Given the description of an element on the screen output the (x, y) to click on. 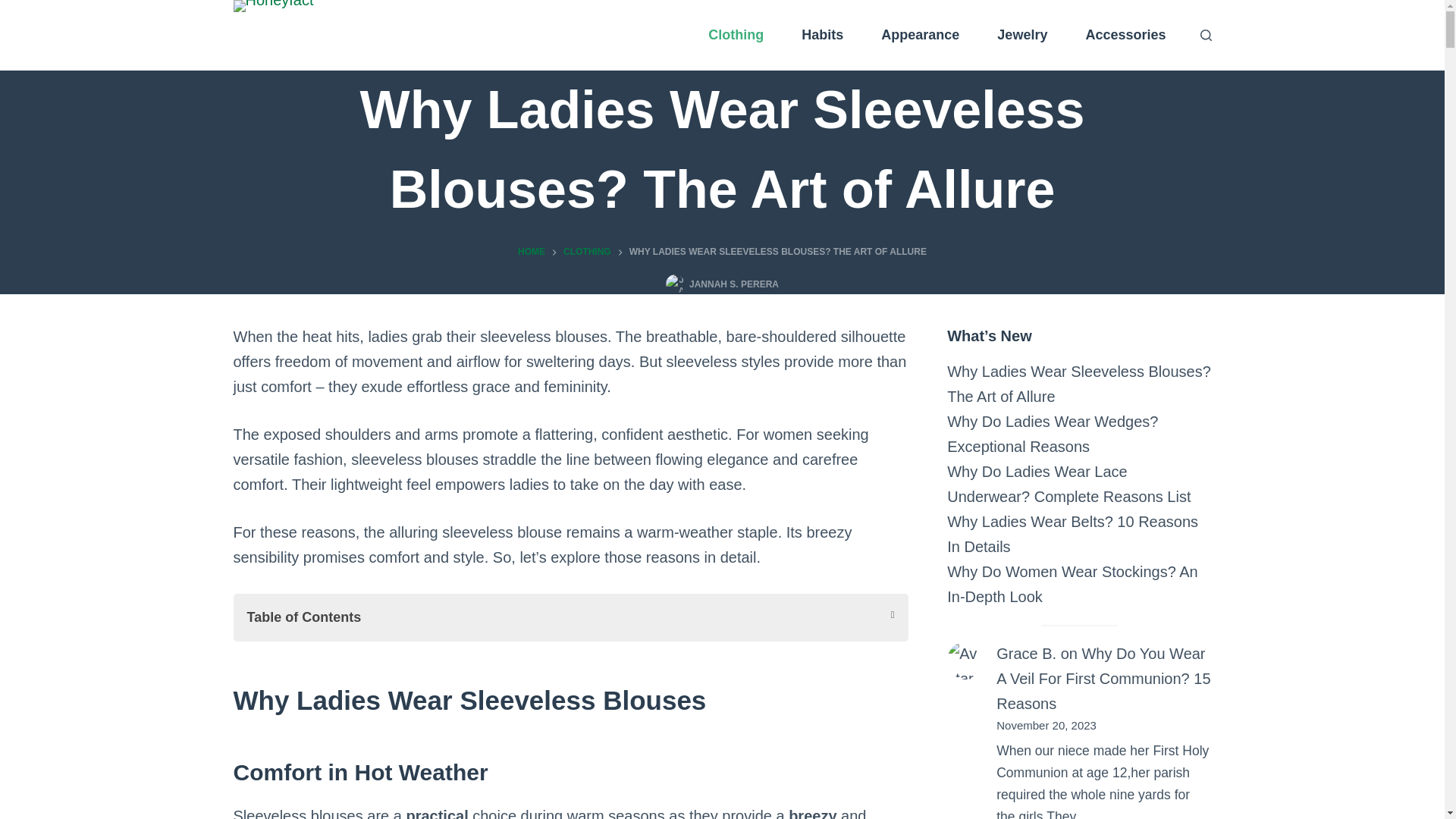
Appearance (919, 35)
CLOTHING (587, 252)
HOME (531, 252)
Posts by Jannah S. Perera (733, 284)
Habits (822, 35)
Skip to content (15, 7)
JANNAH S. PERERA (733, 284)
Clothing (735, 35)
Jewelry (1021, 35)
Accessories (1125, 35)
Table of Contents (570, 617)
